Given the description of an element on the screen output the (x, y) to click on. 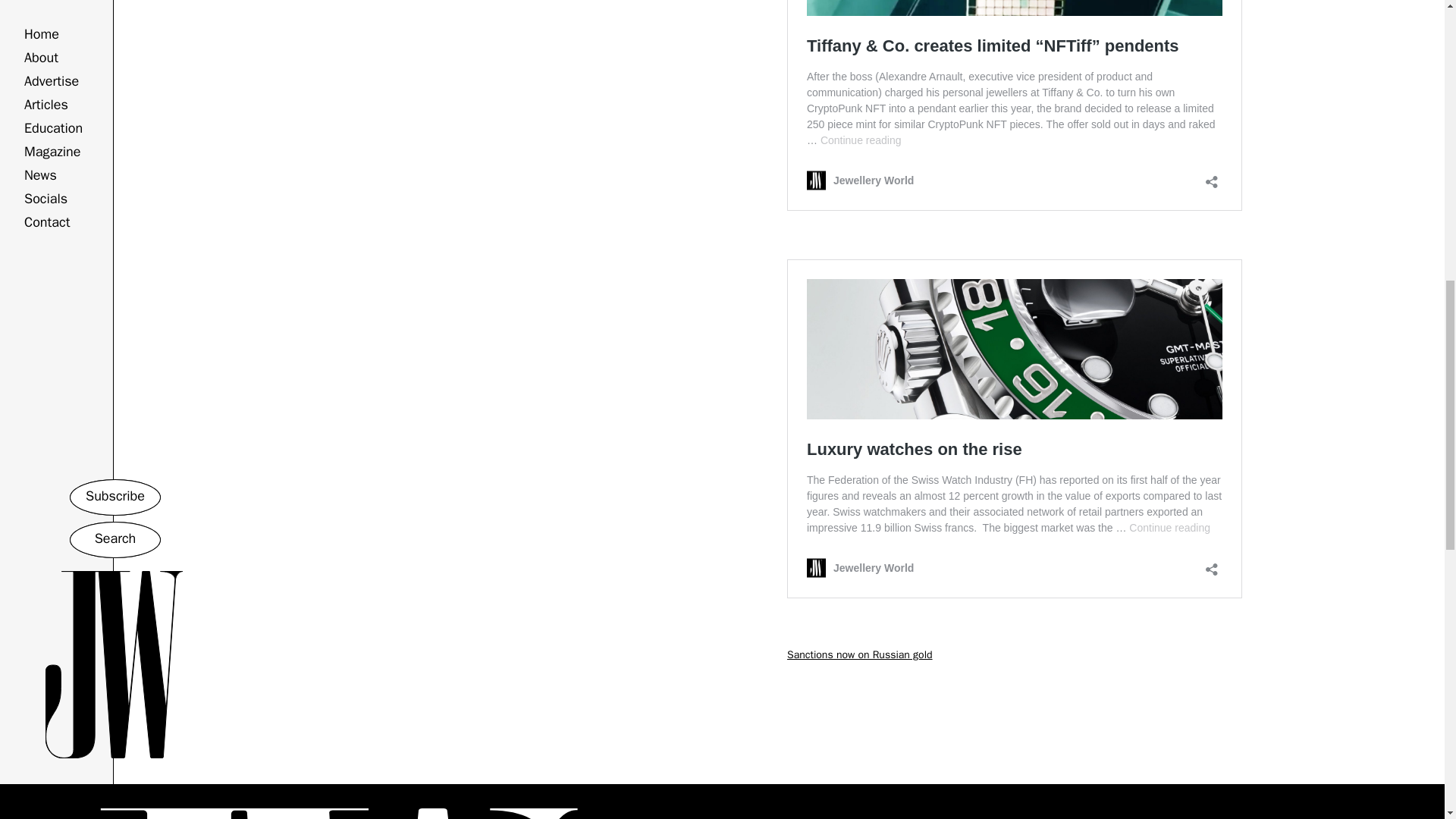
Sanctions now on Russian gold (860, 654)
